Given the description of an element on the screen output the (x, y) to click on. 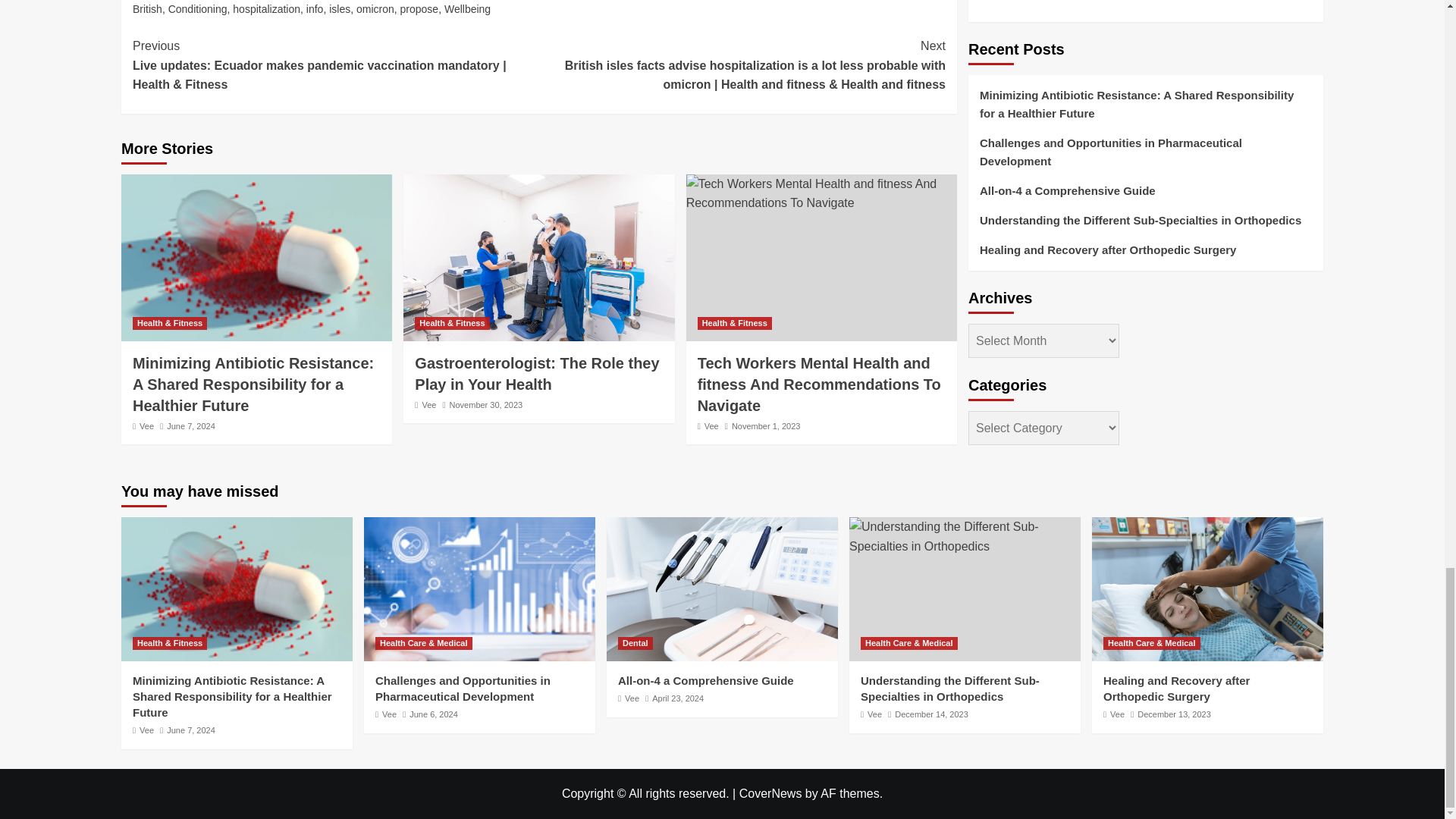
All-on-4 a Comprehensive Guide (722, 588)
hospitalization (265, 9)
Understanding the Different Sub-Specialties in Orthopedics (964, 536)
omicron (375, 9)
Wellbeing (467, 9)
info (314, 9)
isles (339, 9)
British (146, 9)
propose (419, 9)
Conditioning (197, 9)
Gastroenterologist: The Role they Play in Your Health (538, 257)
Challenges and Opportunities in Pharmaceutical Development (479, 588)
